Given the description of an element on the screen output the (x, y) to click on. 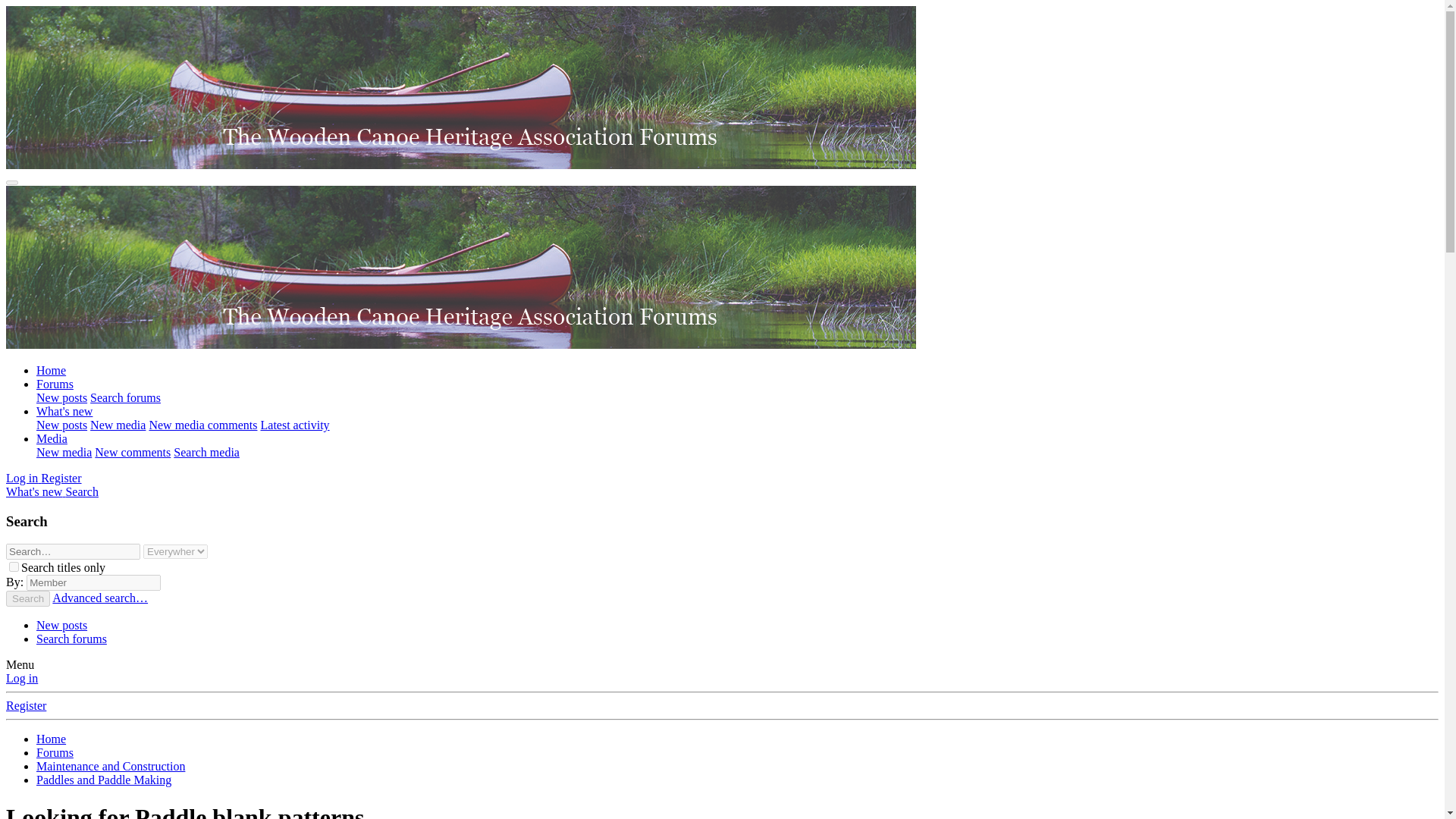
Latest activity (295, 424)
Log in (22, 477)
Search (82, 491)
Search (82, 491)
What's new (35, 491)
Search (27, 598)
What's new (35, 491)
Maintenance and Construction (110, 766)
Media (51, 438)
Home (50, 738)
New posts (61, 625)
Paddles and Paddle Making (103, 779)
Search media (206, 451)
New media (63, 451)
What's new (64, 410)
